Given the description of an element on the screen output the (x, y) to click on. 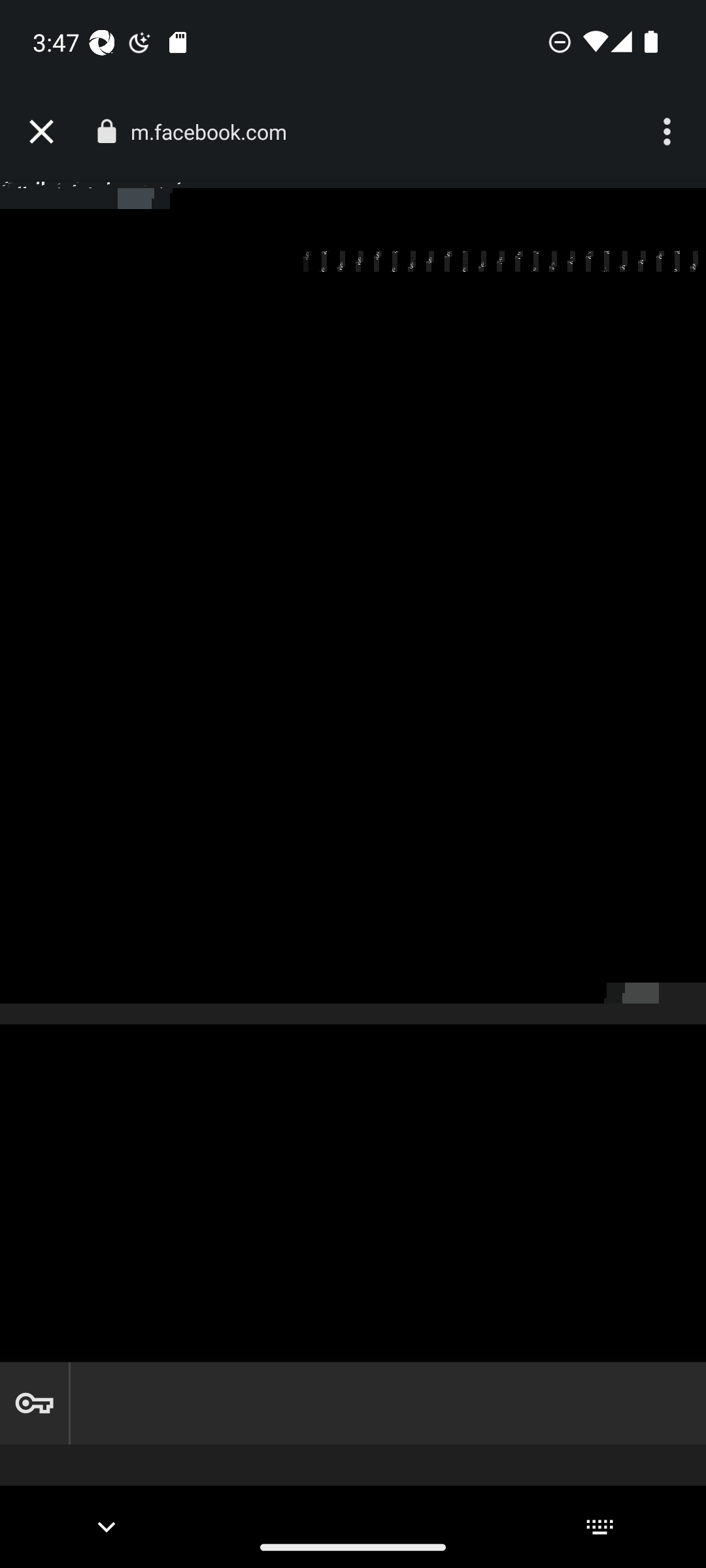
Close tab (41, 131)
More options (669, 131)
Connection is secure (106, 131)
m.facebook.com (215, 131)
Show passwords (34, 1403)
